Given the description of an element on the screen output the (x, y) to click on. 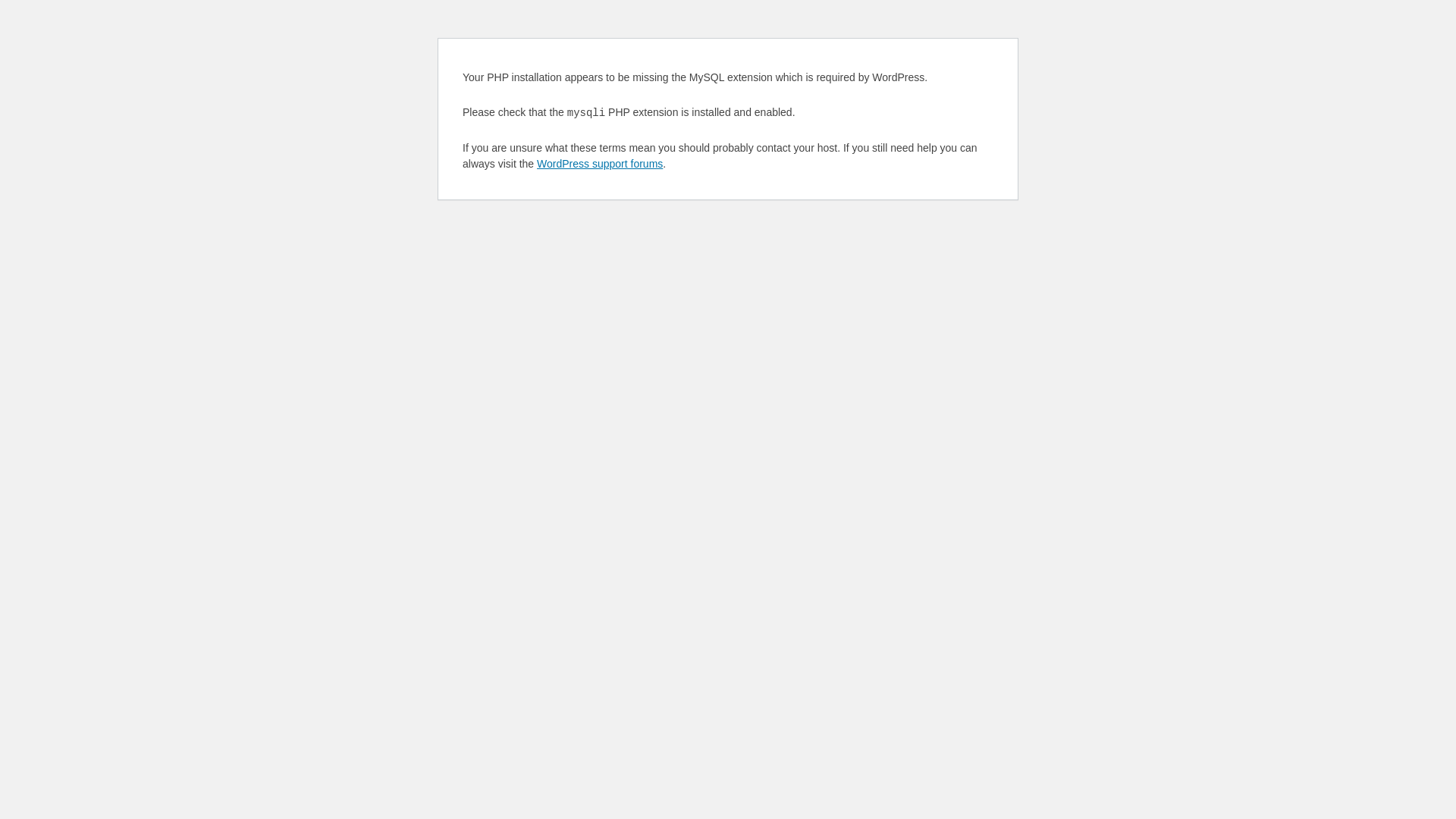
WordPress support forums Element type: text (599, 163)
